Given the description of an element on the screen output the (x, y) to click on. 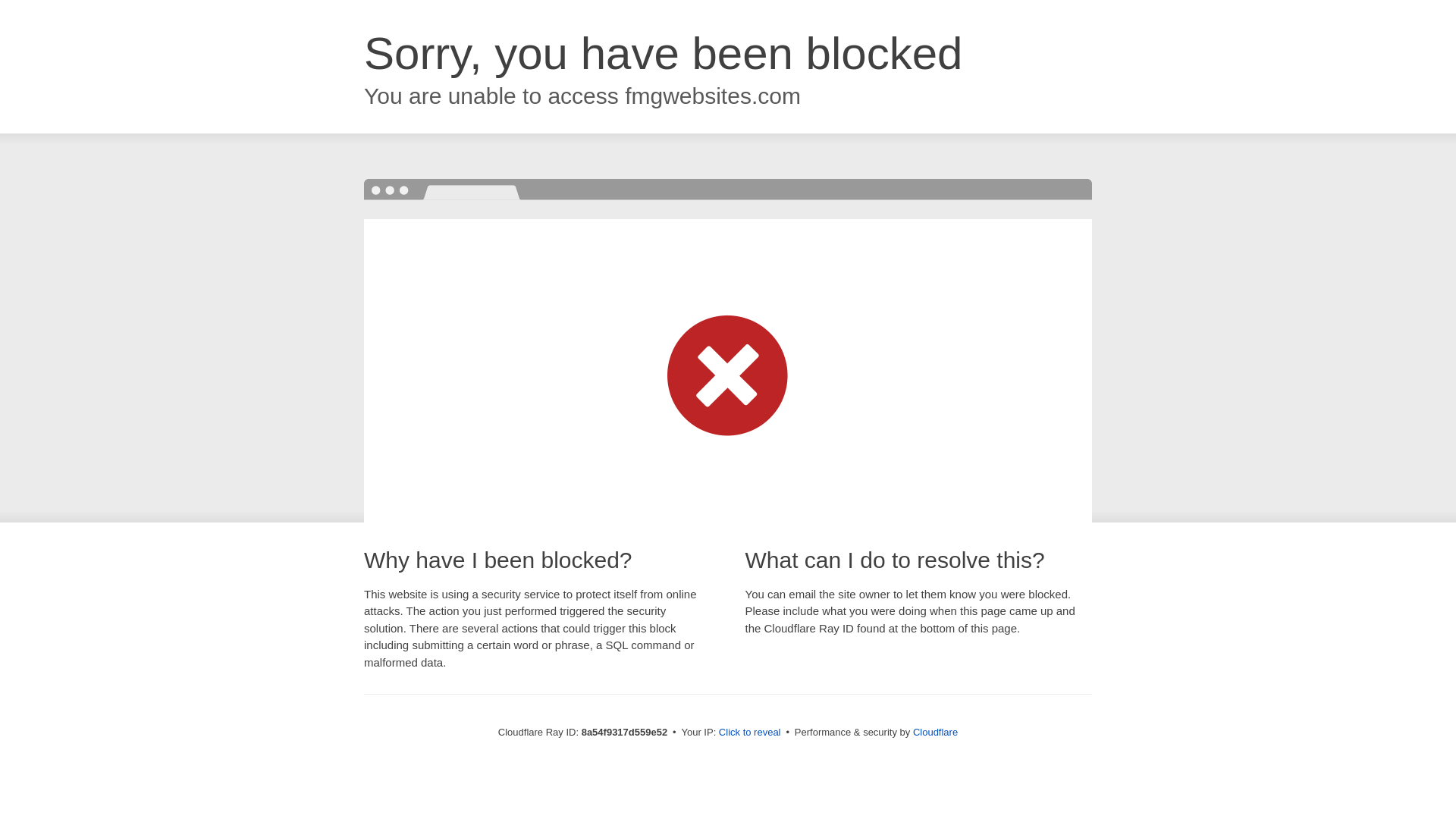
Click to reveal (749, 732)
Cloudflare (935, 731)
